Given the description of an element on the screen output the (x, y) to click on. 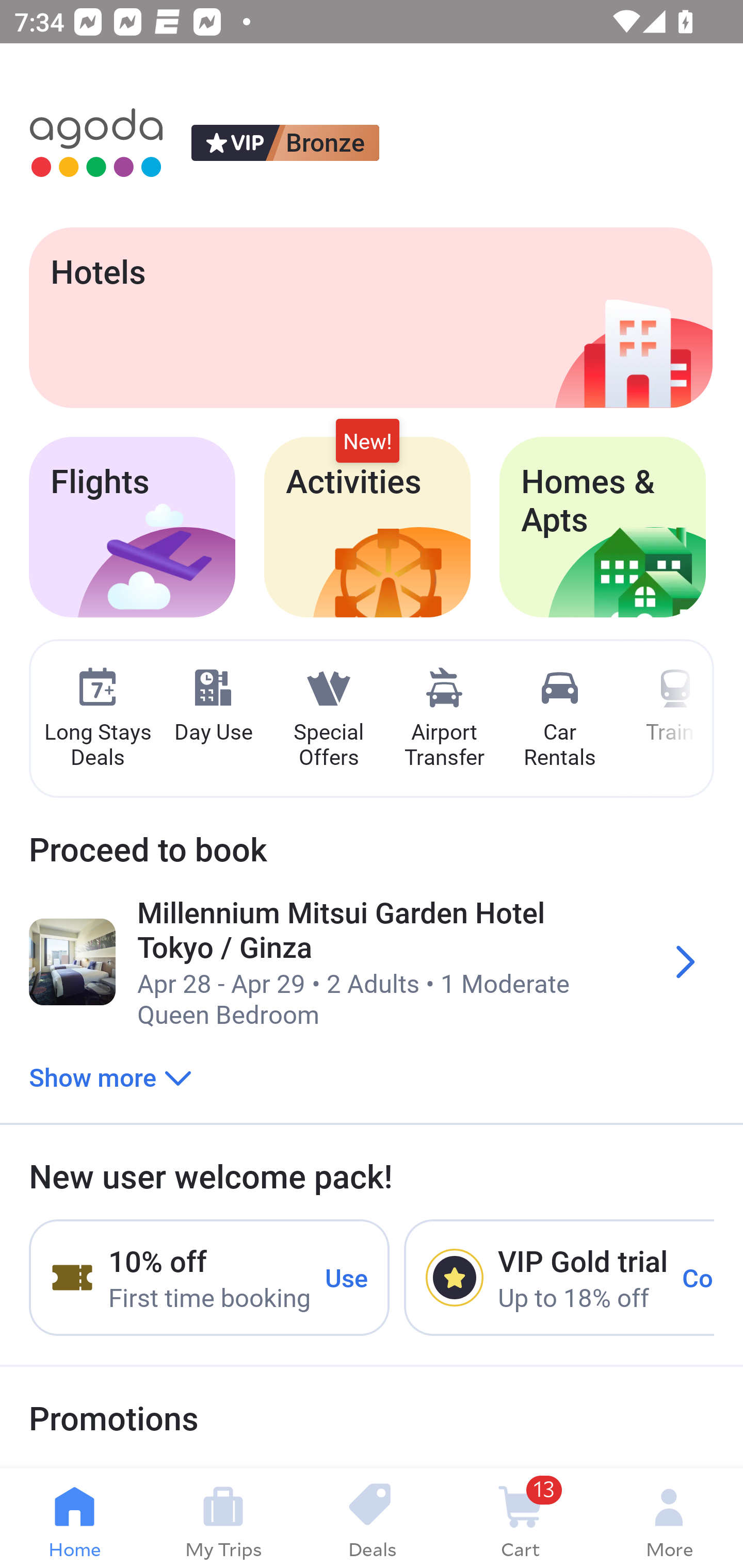
Hotels (370, 317)
New! (367, 441)
Flights (131, 527)
Activities (367, 527)
Homes & Apts (602, 527)
Day Use (213, 706)
Long Stays Deals (97, 718)
Special Offers (328, 718)
Airport Transfer (444, 718)
Car Rentals (559, 718)
Show more (110, 1076)
Use (346, 1277)
Home (74, 1518)
My Trips (222, 1518)
Deals (371, 1518)
13 Cart (519, 1518)
More (668, 1518)
